Given the description of an element on the screen output the (x, y) to click on. 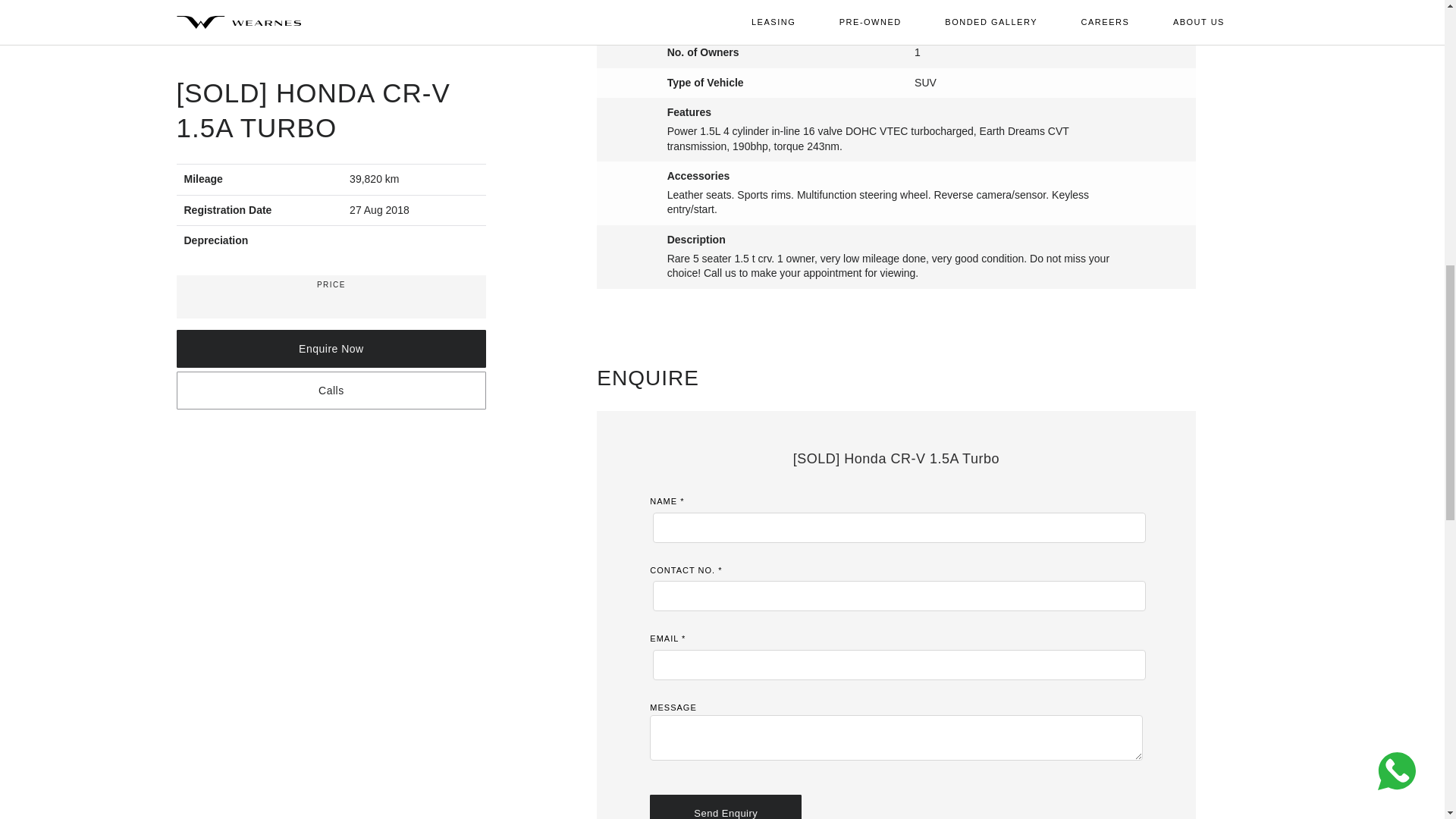
Send Enquiry (725, 806)
Send Enquiry (725, 806)
